Given the description of an element on the screen output the (x, y) to click on. 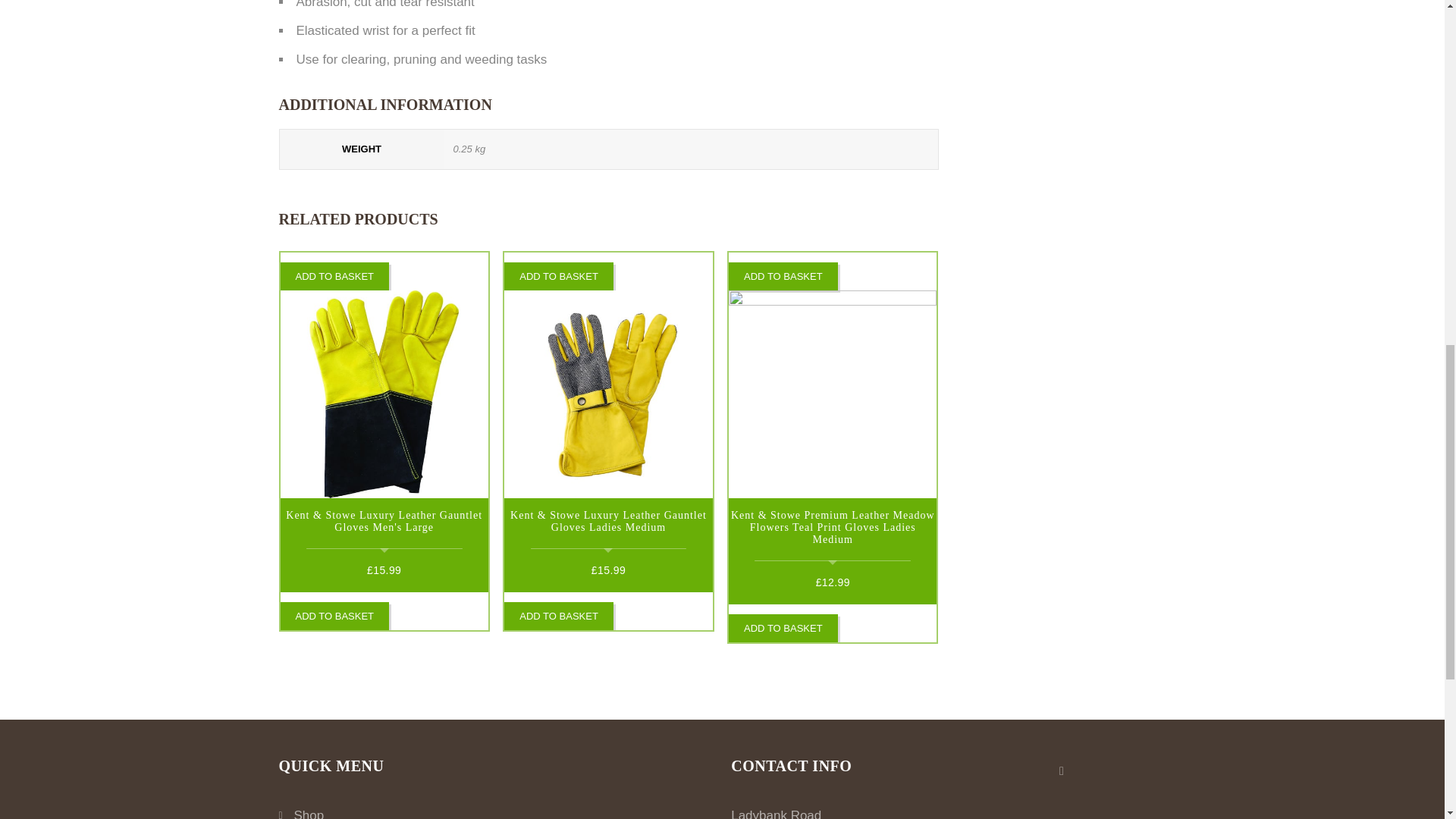
ADD TO BASKET (557, 615)
ADD TO BASKET (783, 276)
ADD TO BASKET (557, 276)
ADD TO BASKET (335, 276)
Facebook (1061, 770)
ADD TO BASKET (335, 615)
